Given the description of an element on the screen output the (x, y) to click on. 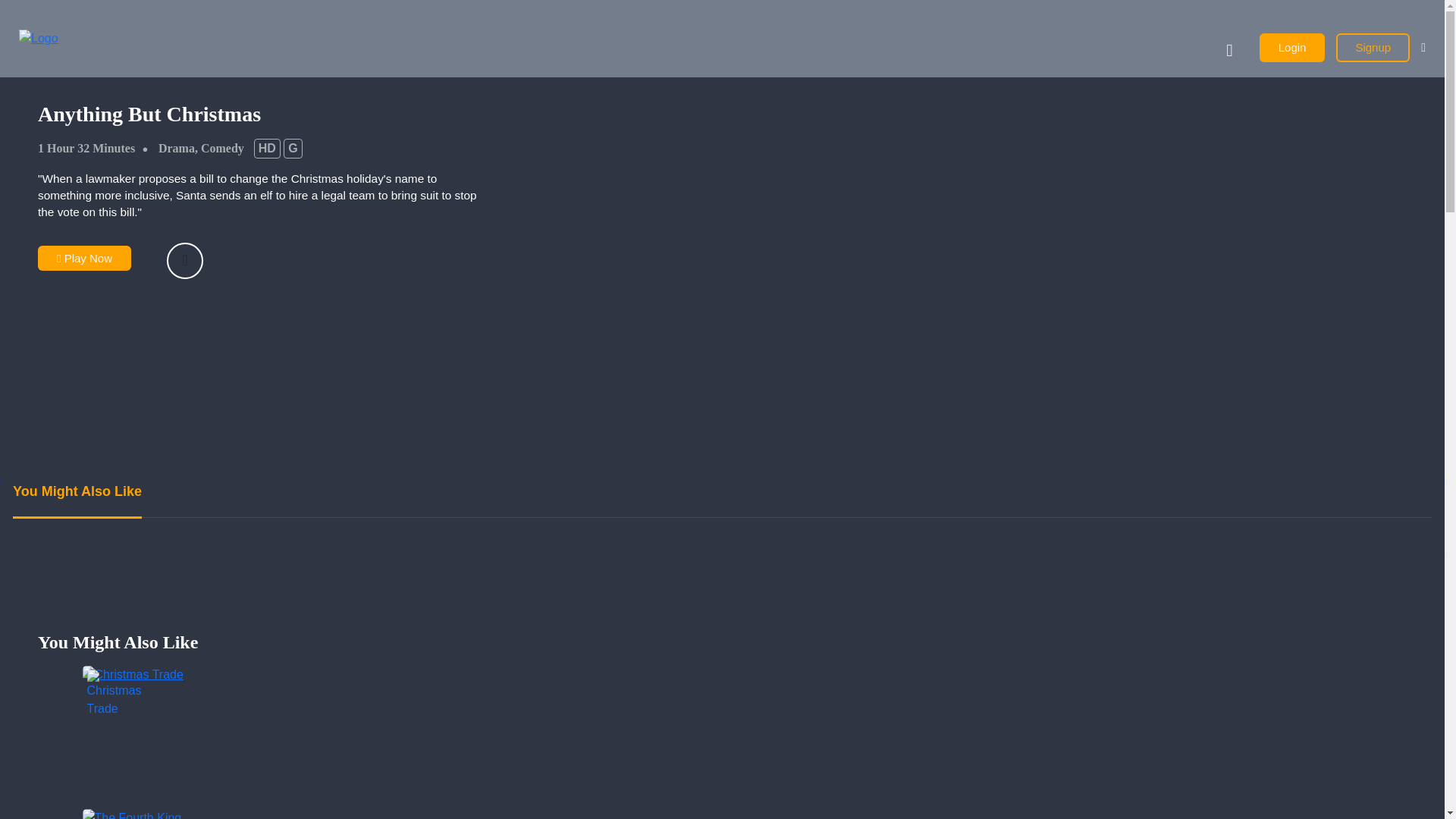
HD (267, 147)
Signup (1372, 48)
Anything but Christmas (265, 114)
Login (1291, 48)
Drama (176, 148)
Play Now (84, 258)
Comedy (222, 148)
